Given the description of an element on the screen output the (x, y) to click on. 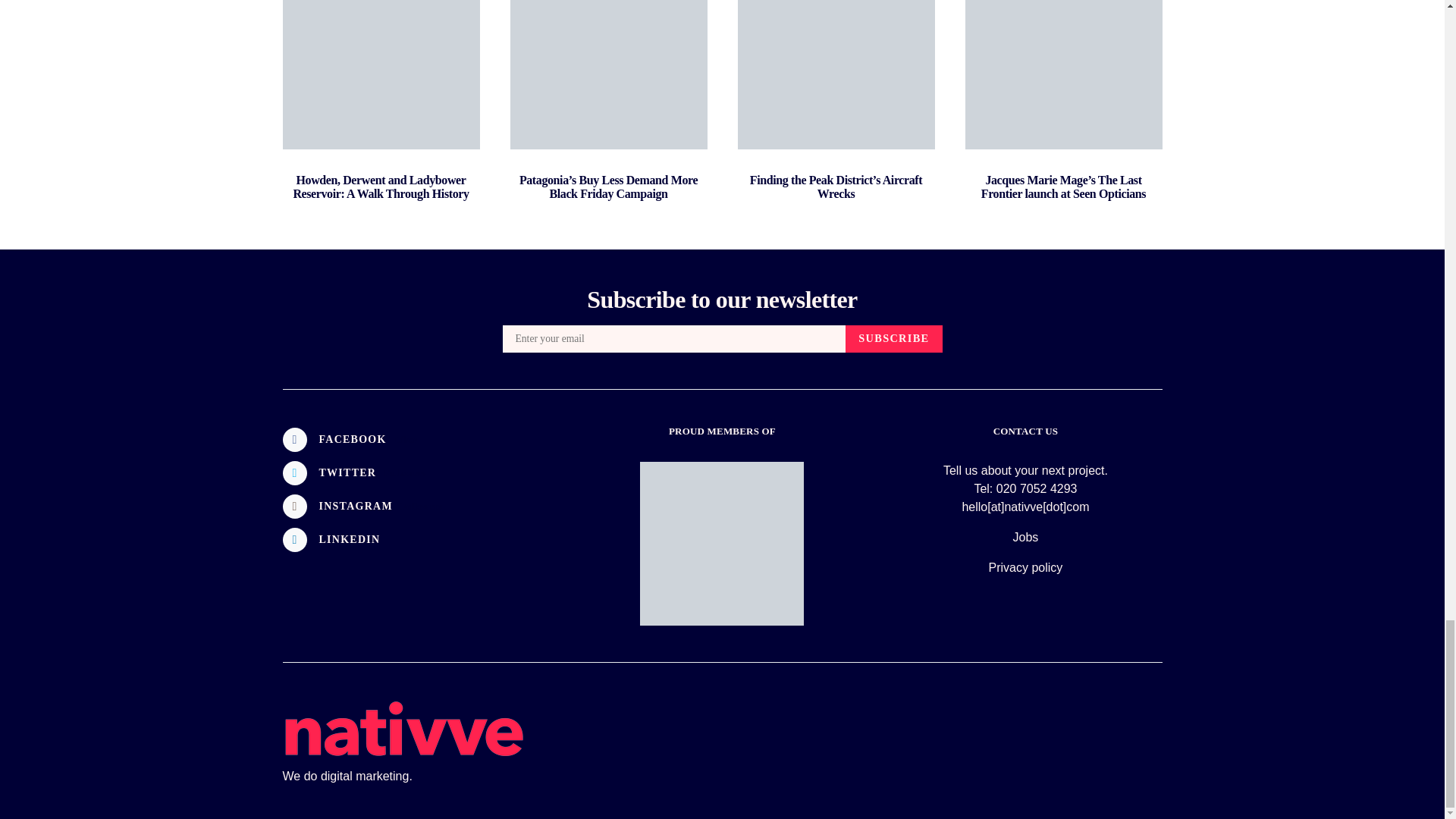
Proud member of (721, 543)
